Given the description of an element on the screen output the (x, y) to click on. 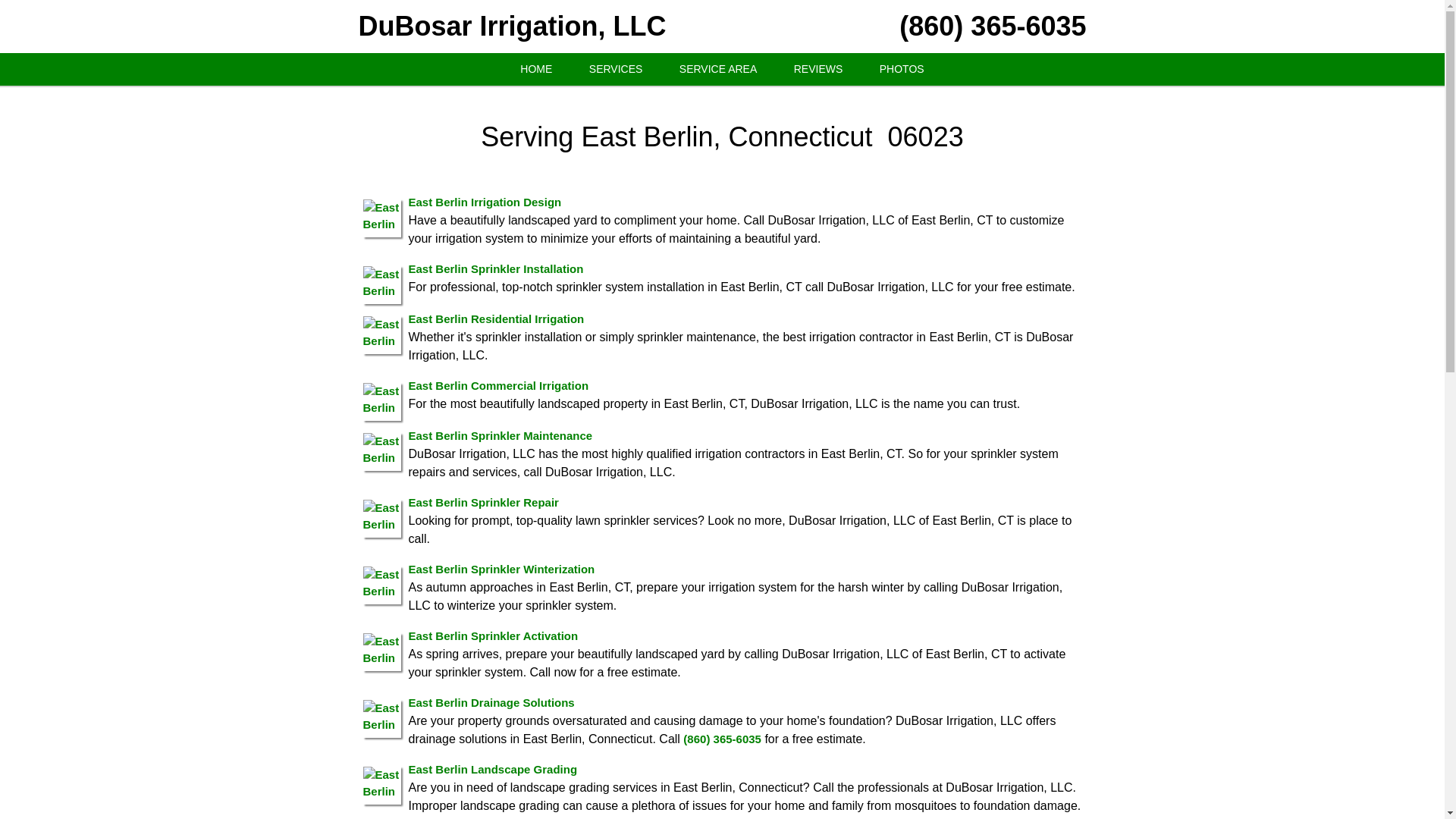
East Berlin Landscape Grading (491, 768)
East Berlin Drainage Solutions (490, 702)
East Berlin Sprinkler Activation (492, 635)
PHOTOS (901, 69)
REVIEWS (818, 69)
East Berlin Irrigation Design (483, 201)
East Berlin Sprinkler Maintenance (499, 435)
SERVICE AREA (717, 69)
HOME (536, 69)
East Berlin Sprinkler Winterization (500, 568)
